Given the description of an element on the screen output the (x, y) to click on. 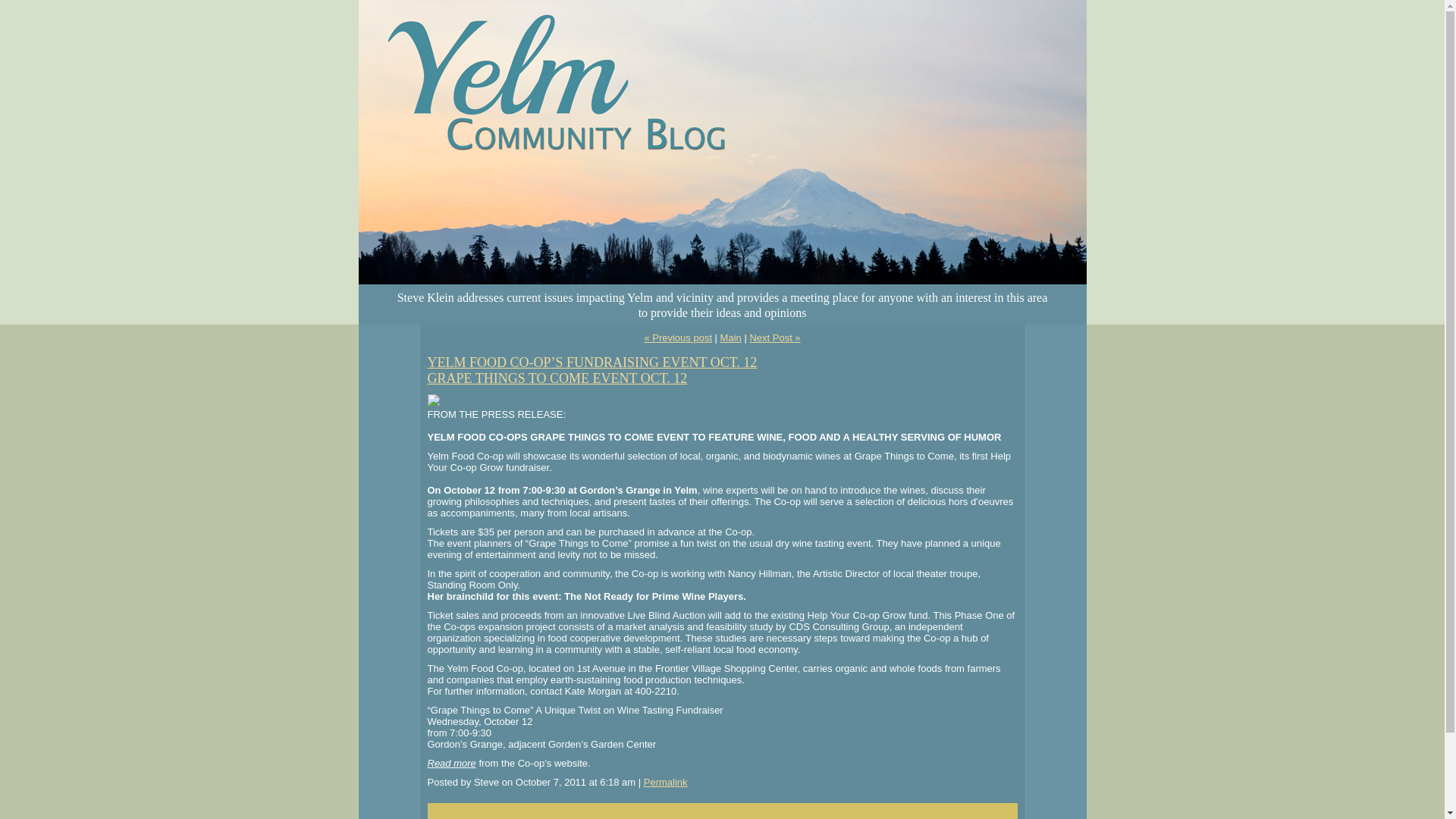
Permalink (665, 781)
Main (730, 337)
Read more (452, 763)
